Given the description of an element on the screen output the (x, y) to click on. 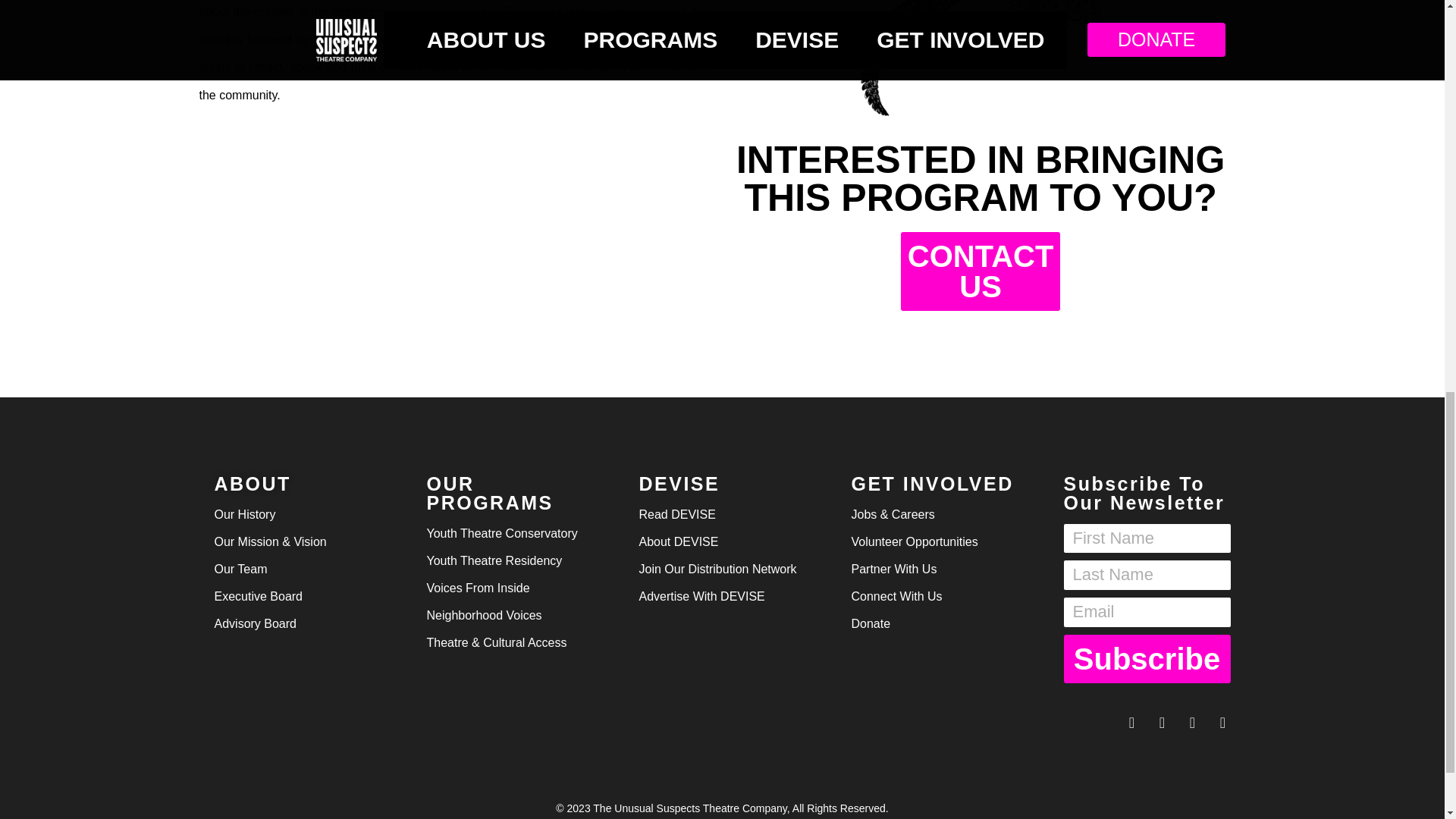
Page 5 (452, 54)
